Given the description of an element on the screen output the (x, y) to click on. 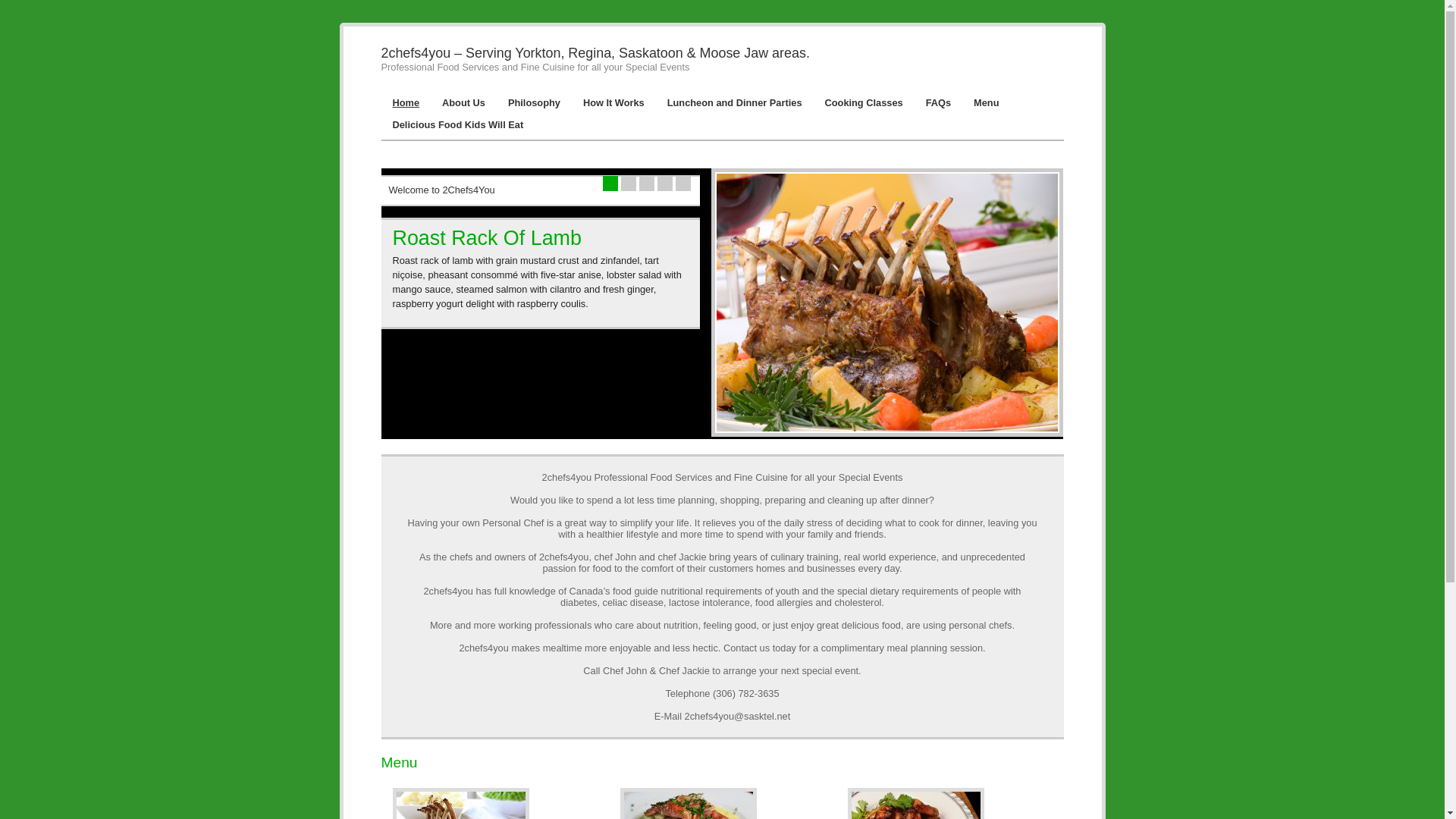
Home Element type: text (405, 102)
1 Element type: text (609, 183)
About Us Element type: text (463, 102)
Delicious Food Kids Will Eat Element type: text (457, 124)
4 Element type: text (663, 183)
Roast Rack Of Lamb Element type: text (486, 237)
Cooking Classes Element type: text (862, 102)
FAQs Element type: text (938, 102)
3 Element type: text (645, 183)
Philosophy Element type: text (533, 102)
5 Element type: text (682, 183)
Menu Element type: text (986, 102)
2 Element type: text (627, 183)
Luncheon and Dinner Parties Element type: text (734, 102)
How It Works Element type: text (613, 102)
